Given the description of an element on the screen output the (x, y) to click on. 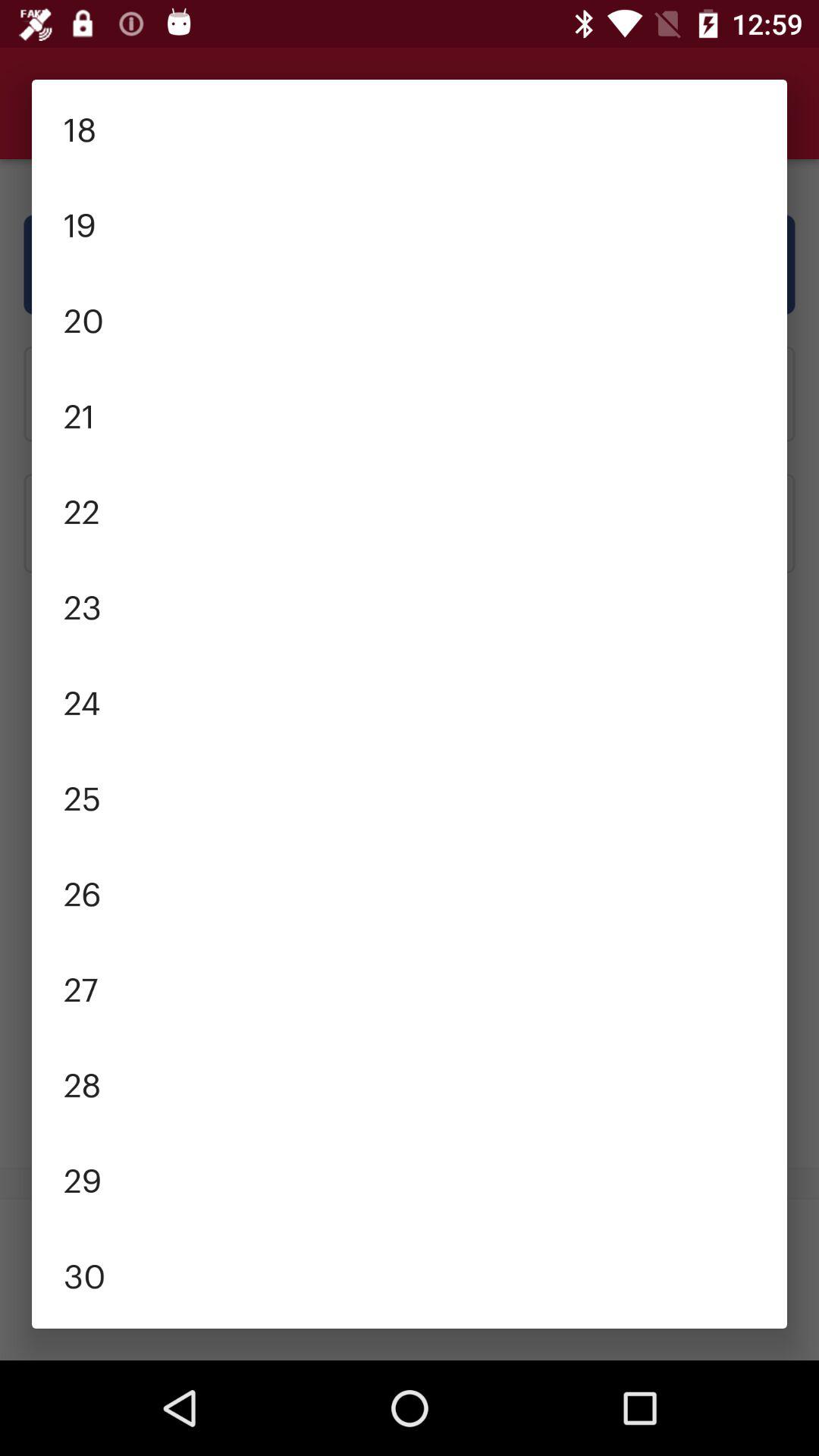
choose item below 24 (409, 796)
